Given the description of an element on the screen output the (x, y) to click on. 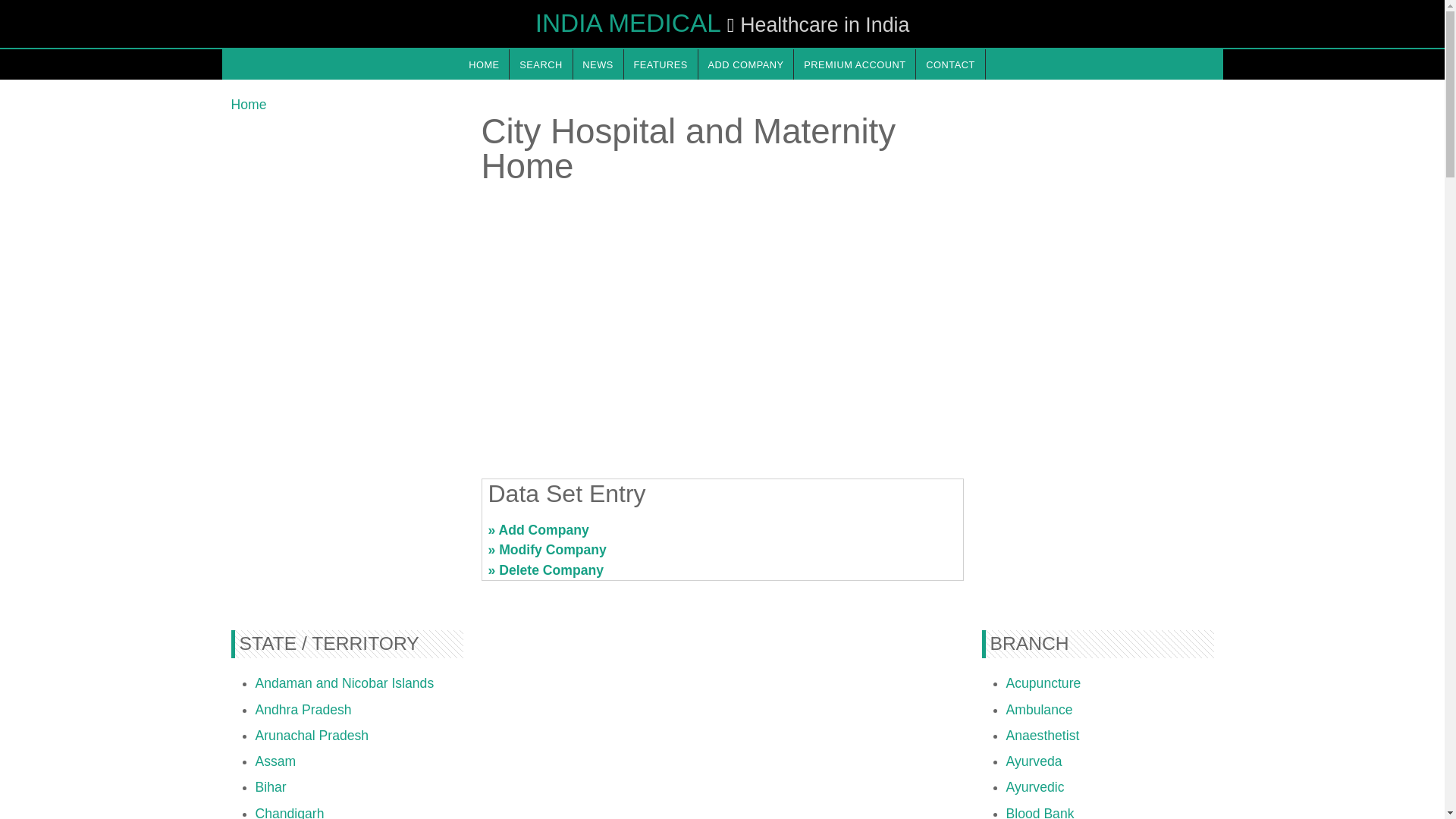
FEATURES (660, 64)
Premium account (854, 64)
Home (248, 104)
INDIA MEDICAL (627, 22)
NEWS (598, 64)
Arunachal Pradesh (311, 735)
SEARCH (540, 64)
Chandigarh (288, 812)
Add a new company (745, 64)
Assam (274, 761)
Search in this webseite. (540, 64)
Andaman and Nicobar Islands (343, 683)
Bihar (269, 786)
CONTACT (949, 64)
